Given the description of an element on the screen output the (x, y) to click on. 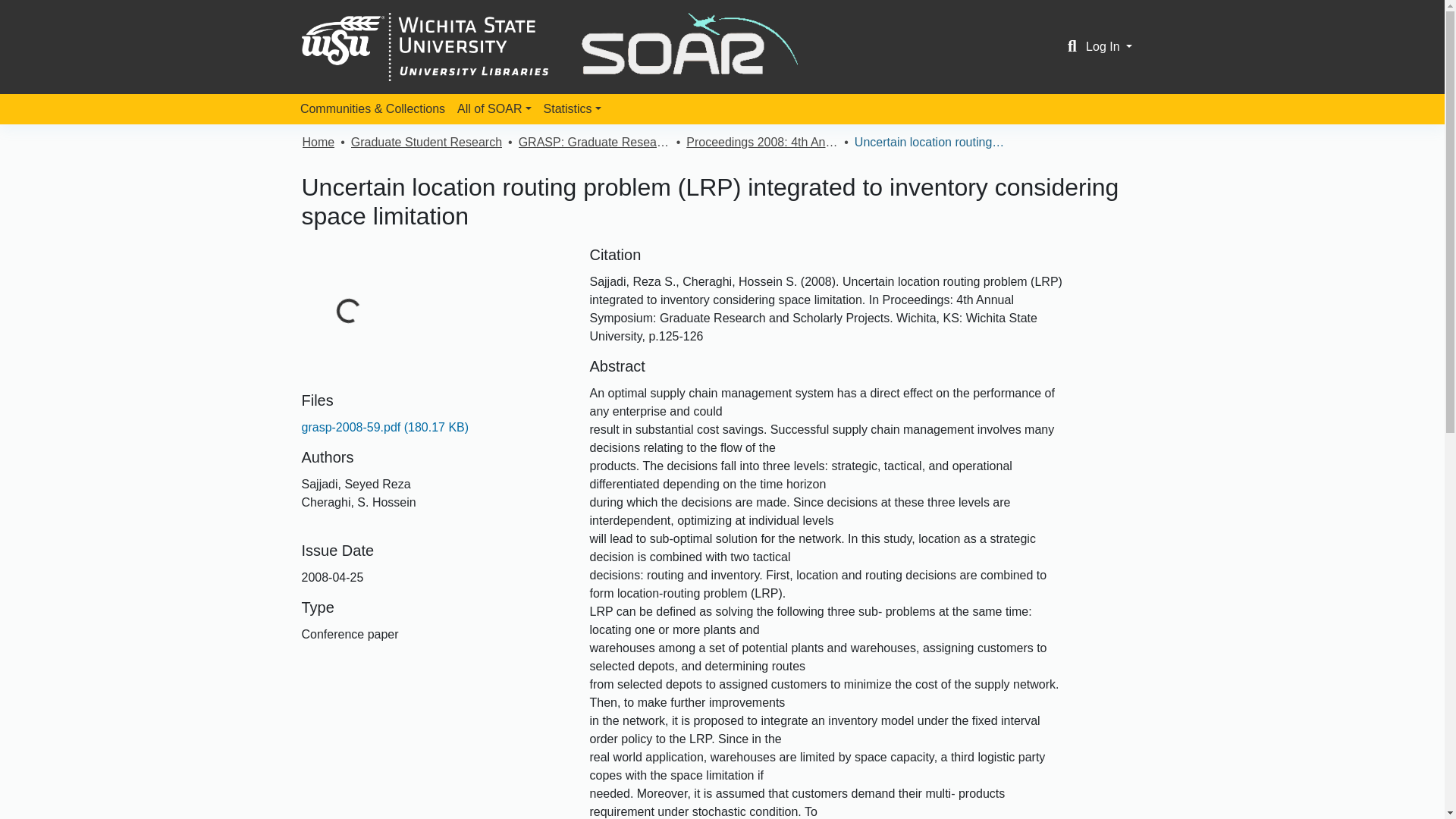
Graduate Student Research (426, 142)
All of SOAR (494, 109)
Statistics (572, 109)
Log In (1108, 46)
GRASP: Graduate Research and Scholarly Projects (593, 142)
Home (317, 142)
Search (1072, 46)
